Given the description of an element on the screen output the (x, y) to click on. 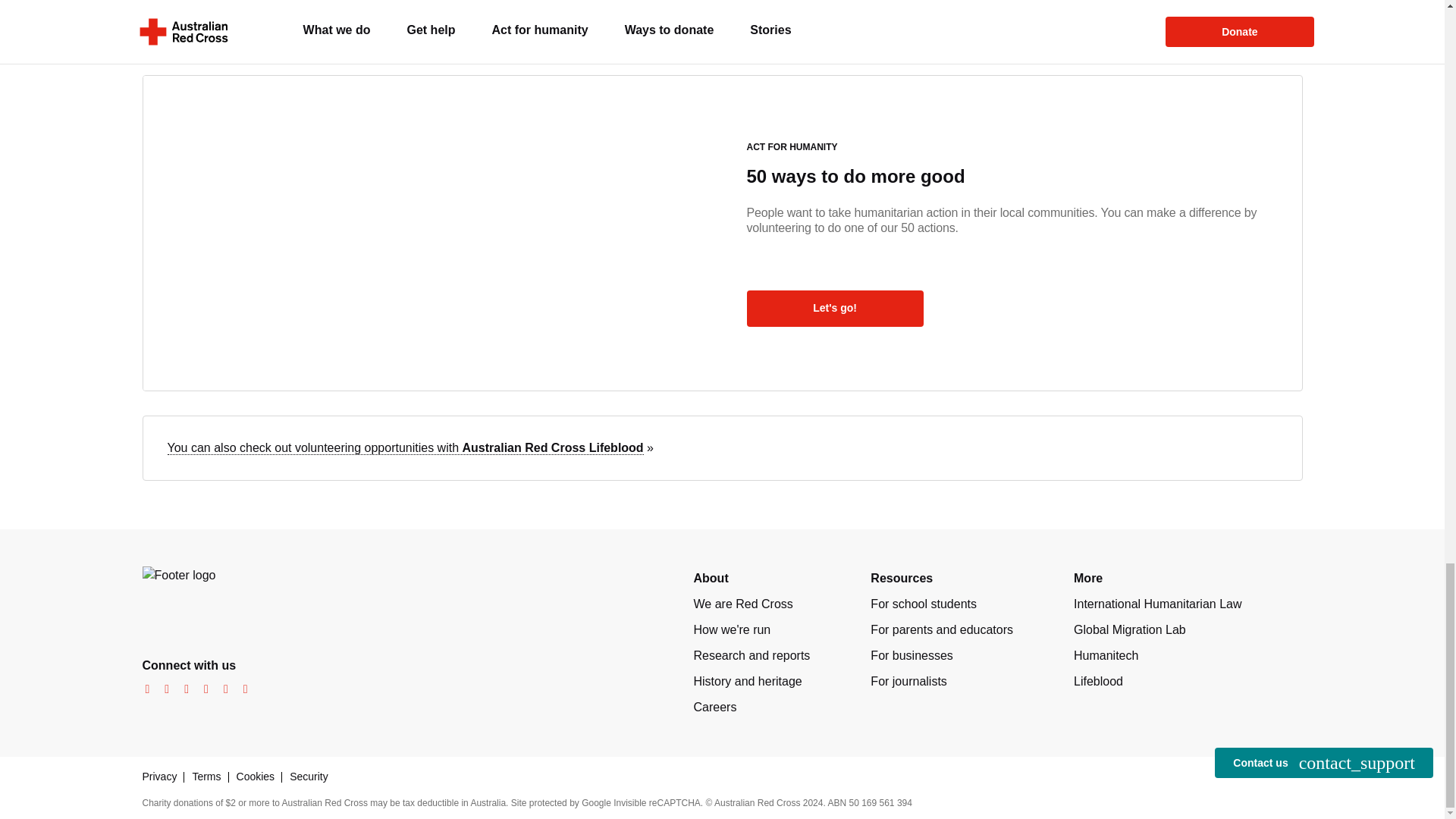
tiktok (240, 688)
instagram (161, 688)
How we're run (731, 629)
Research and reports (751, 655)
About (710, 577)
twitter (181, 688)
Lifeblood volunteering (405, 448)
youtube (201, 688)
For businesses (911, 655)
We are Red Cross (742, 603)
For school students (923, 603)
Careers (714, 707)
History and heritage (747, 680)
linkedin (221, 688)
For parents and educators (941, 629)
